Given the description of an element on the screen output the (x, y) to click on. 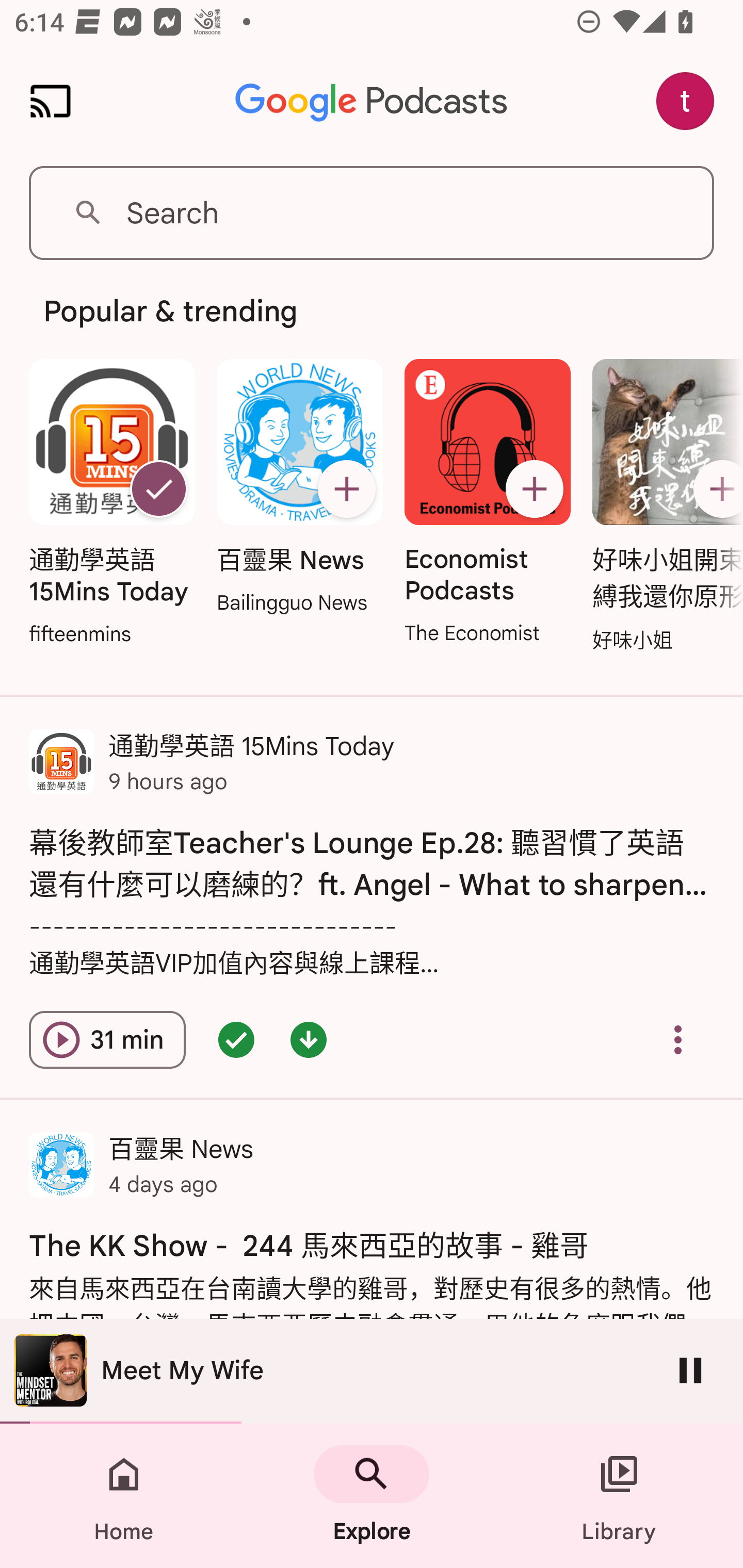
Cast. Disconnected (50, 101)
Search (371, 212)
百靈果 News Subscribe 百靈果 News Bailingguo News (299, 488)
好味小姐開束縛我還你原形 Subscribe 好味小姐開束縛我還你原形 好味小姐 (662, 507)
Unsubscribe (158, 489)
Subscribe (346, 489)
Subscribe (534, 489)
Subscribe (714, 489)
Episode queued - double tap for options (235, 1040)
Episode downloaded - double tap for options (308, 1040)
Overflow menu (677, 1040)
The Mindset Mentor Meet My Wife Pause 401.0 (371, 1370)
Pause (690, 1370)
Home (123, 1495)
Library (619, 1495)
